Given the description of an element on the screen output the (x, y) to click on. 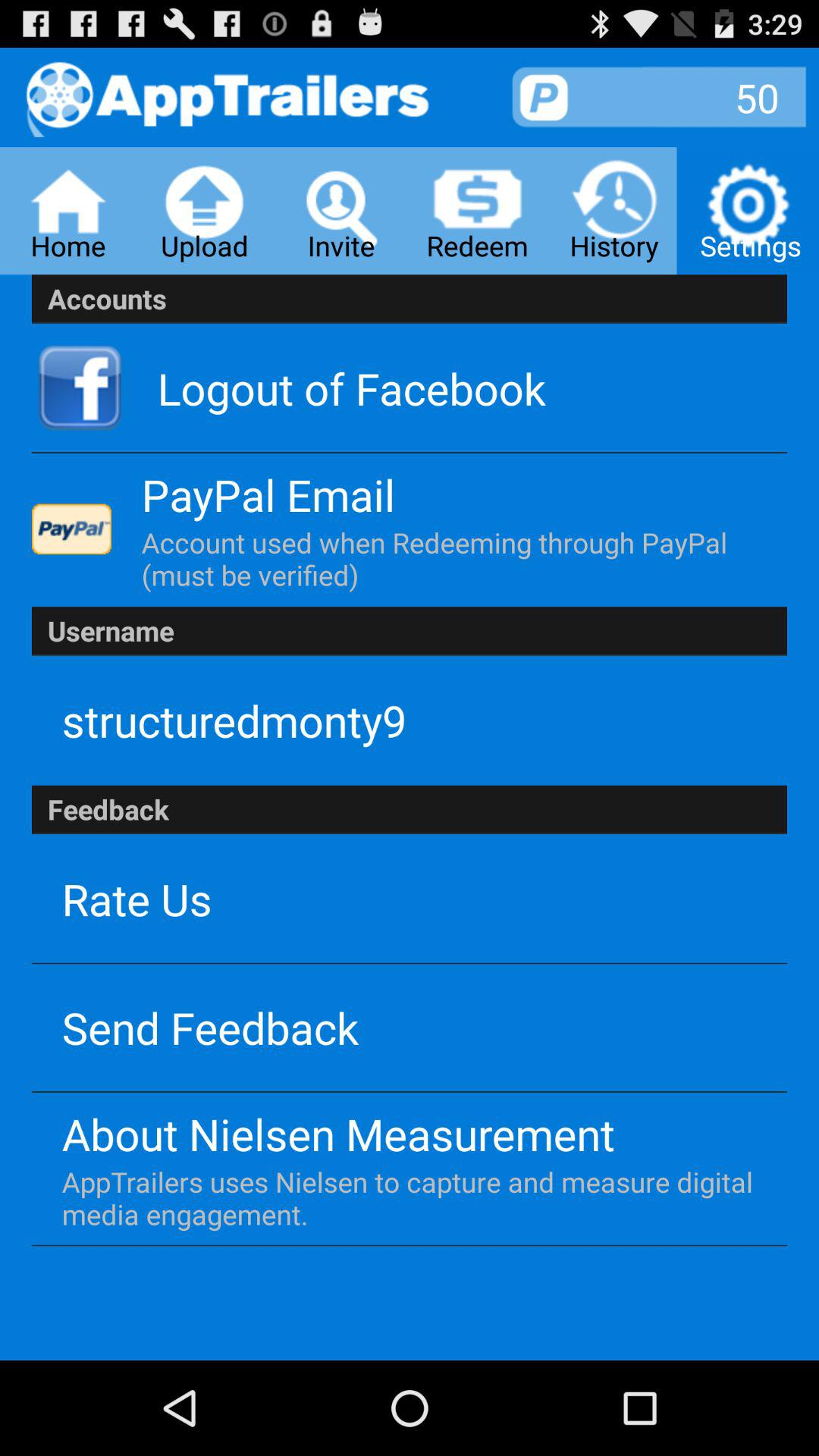
swipe to about nielsen measurement app (337, 1133)
